Given the description of an element on the screen output the (x, y) to click on. 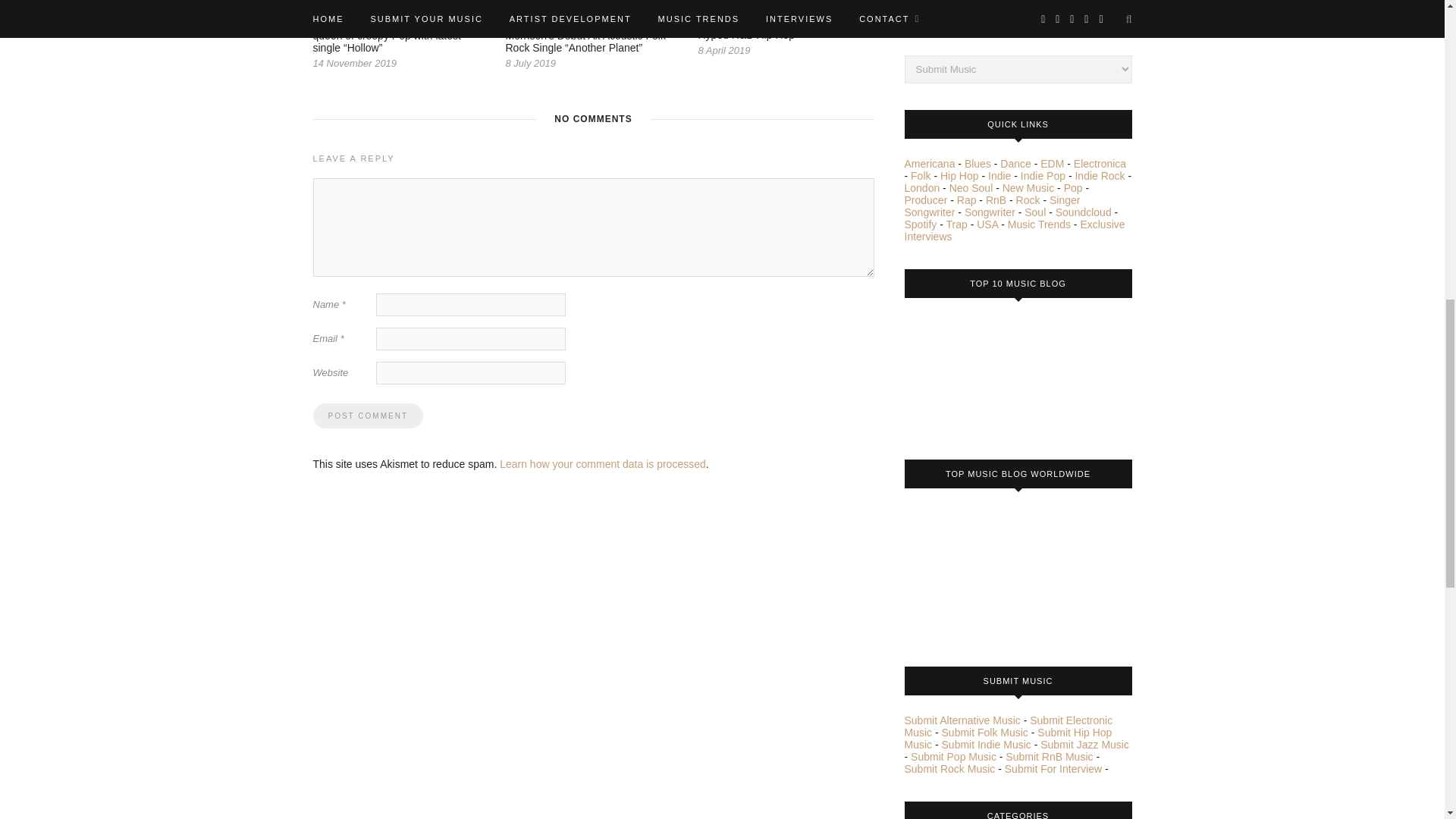
Americana (929, 163)
Post Comment (367, 415)
Post Comment (367, 415)
EDM (1052, 163)
Electronica (1099, 163)
Top 10 Music Blog (960, 373)
Dance (1015, 163)
Learn how your comment data is processed (602, 463)
Blues (977, 163)
Folk (920, 175)
